Given the description of an element on the screen output the (x, y) to click on. 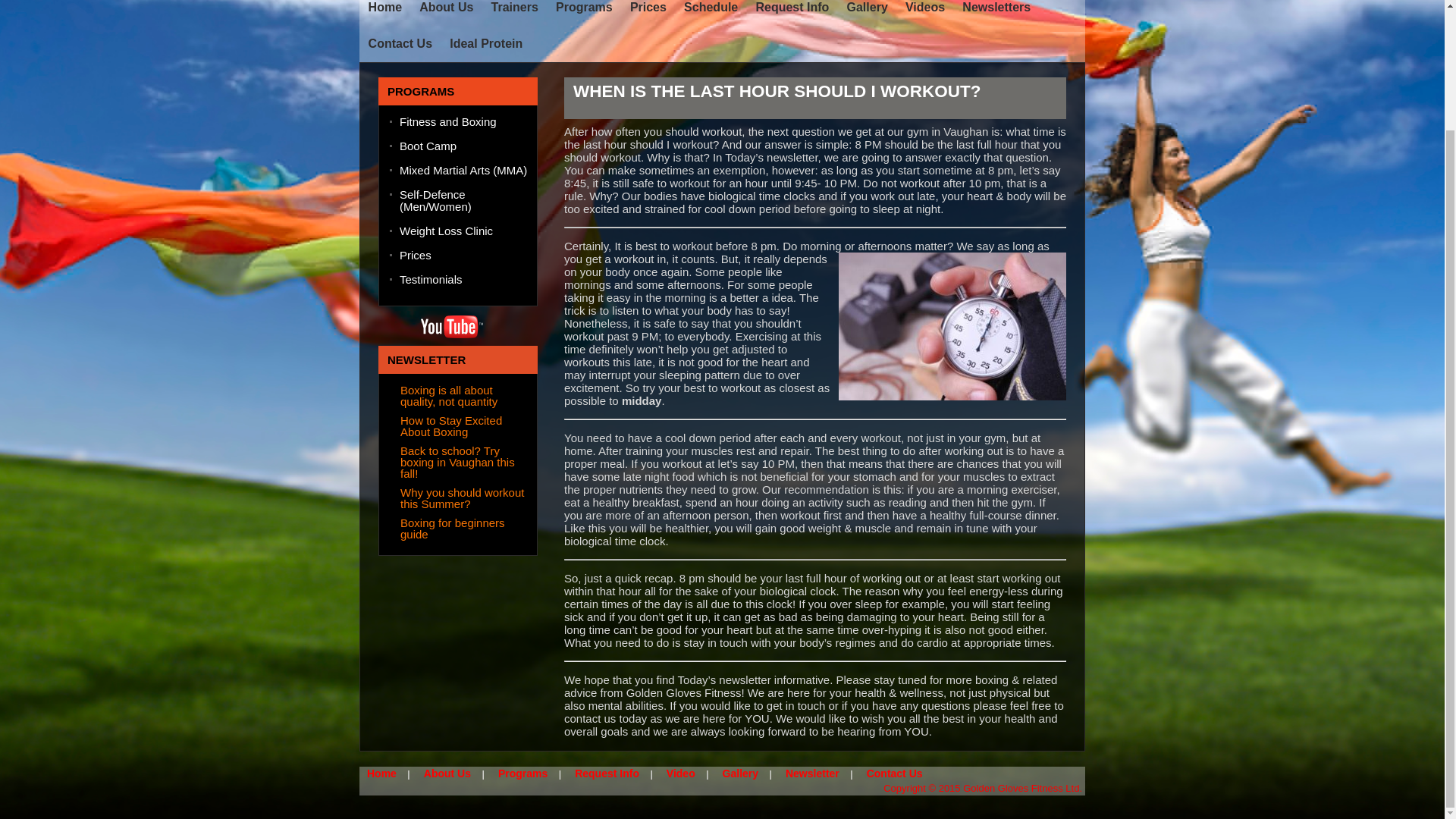
Programs (522, 773)
Boxing is all about quality, not quantity (448, 395)
About Us (446, 773)
Boxing for beginners guide (452, 528)
Request Info (791, 7)
Weight Loss Clinic (463, 237)
Newsletters (996, 7)
Prices (463, 261)
Schedule (711, 7)
Trainers (515, 7)
